Given the description of an element on the screen output the (x, y) to click on. 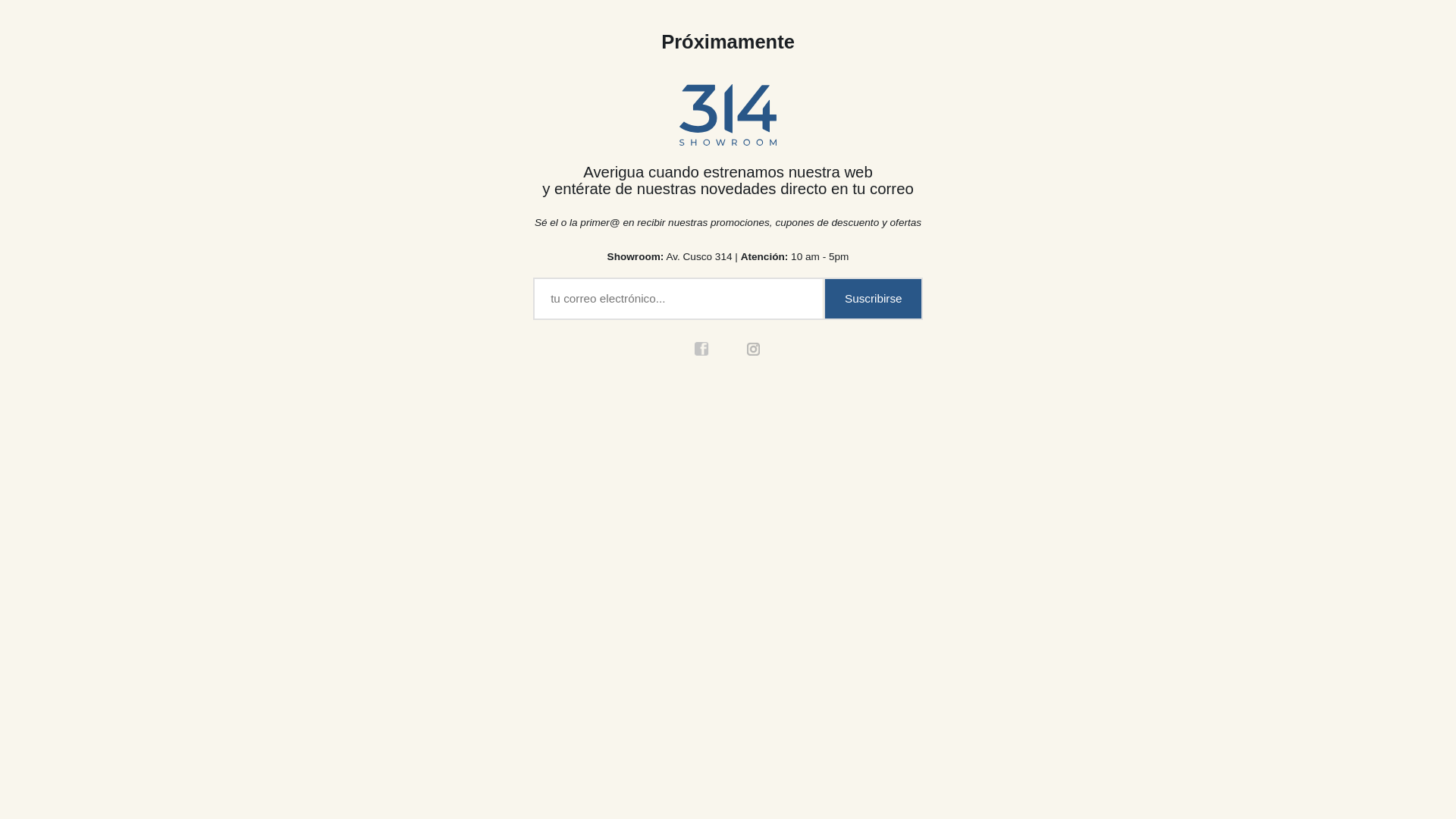
facebook Element type: text (825, 409)
Suscribirse Element type: text (1026, 351)
instagram Element type: text (886, 409)
